Given the description of an element on the screen output the (x, y) to click on. 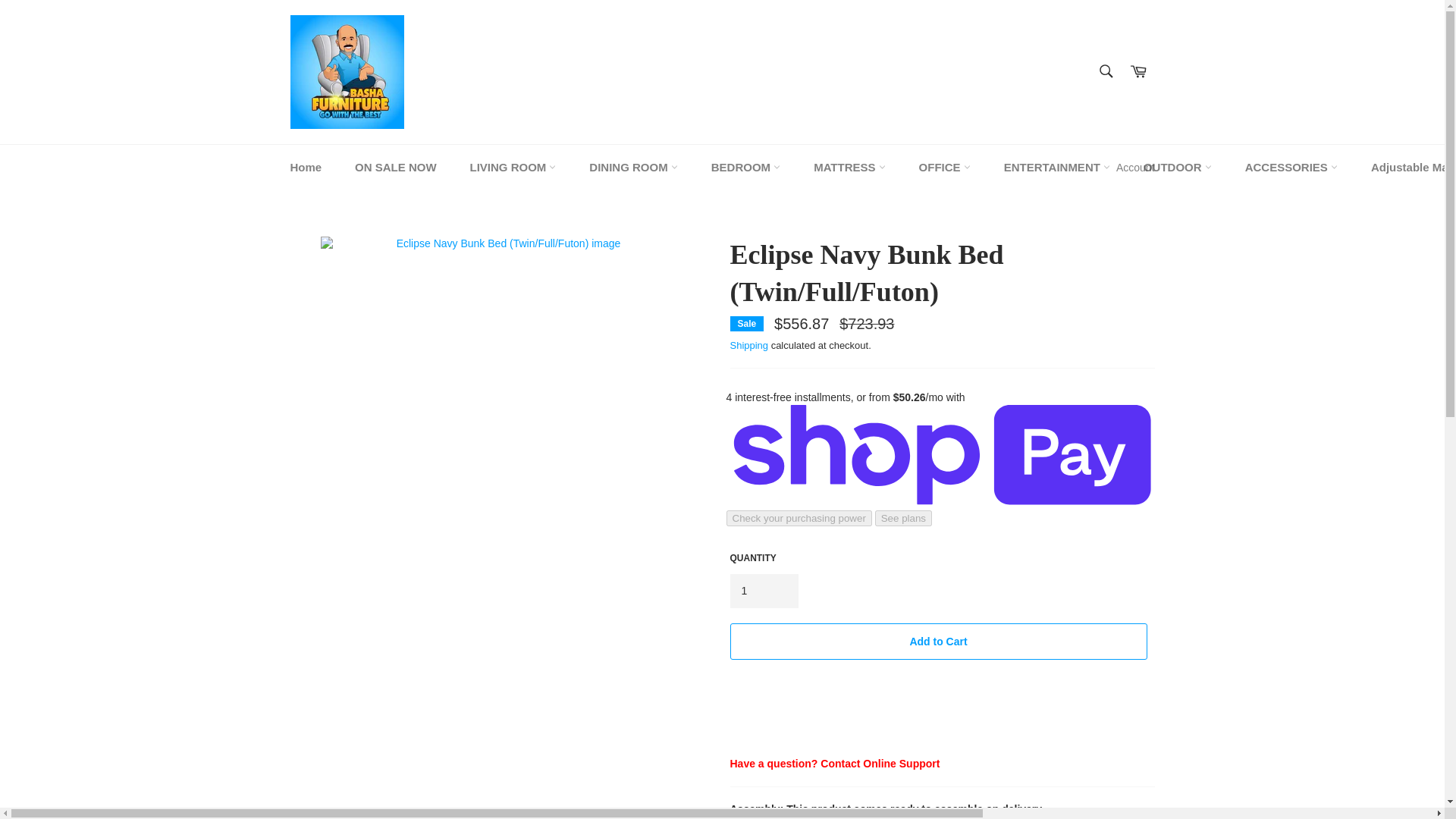
1 (763, 591)
